Given the description of an element on the screen output the (x, y) to click on. 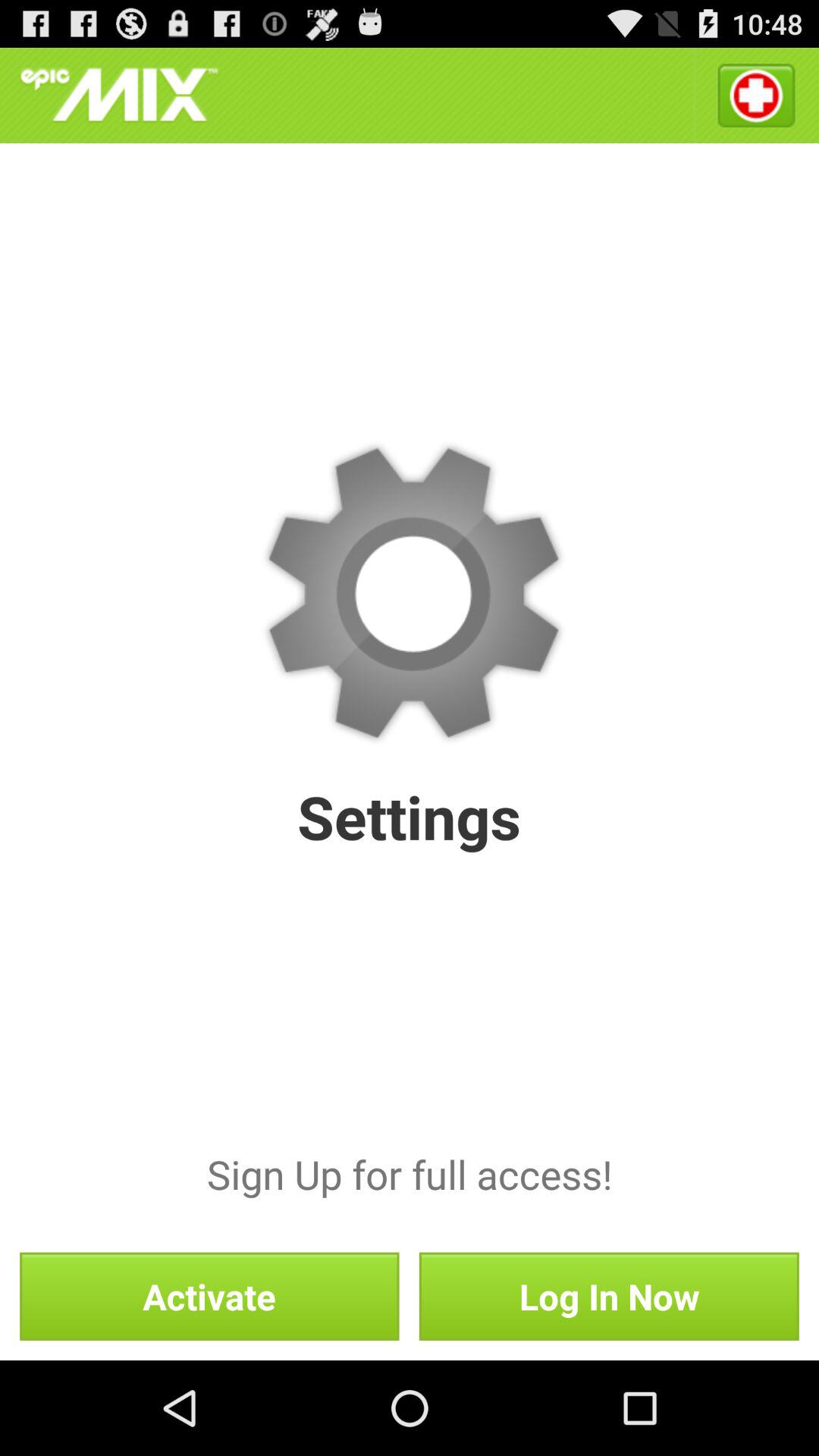
click icon at the top left corner (118, 95)
